Given the description of an element on the screen output the (x, y) to click on. 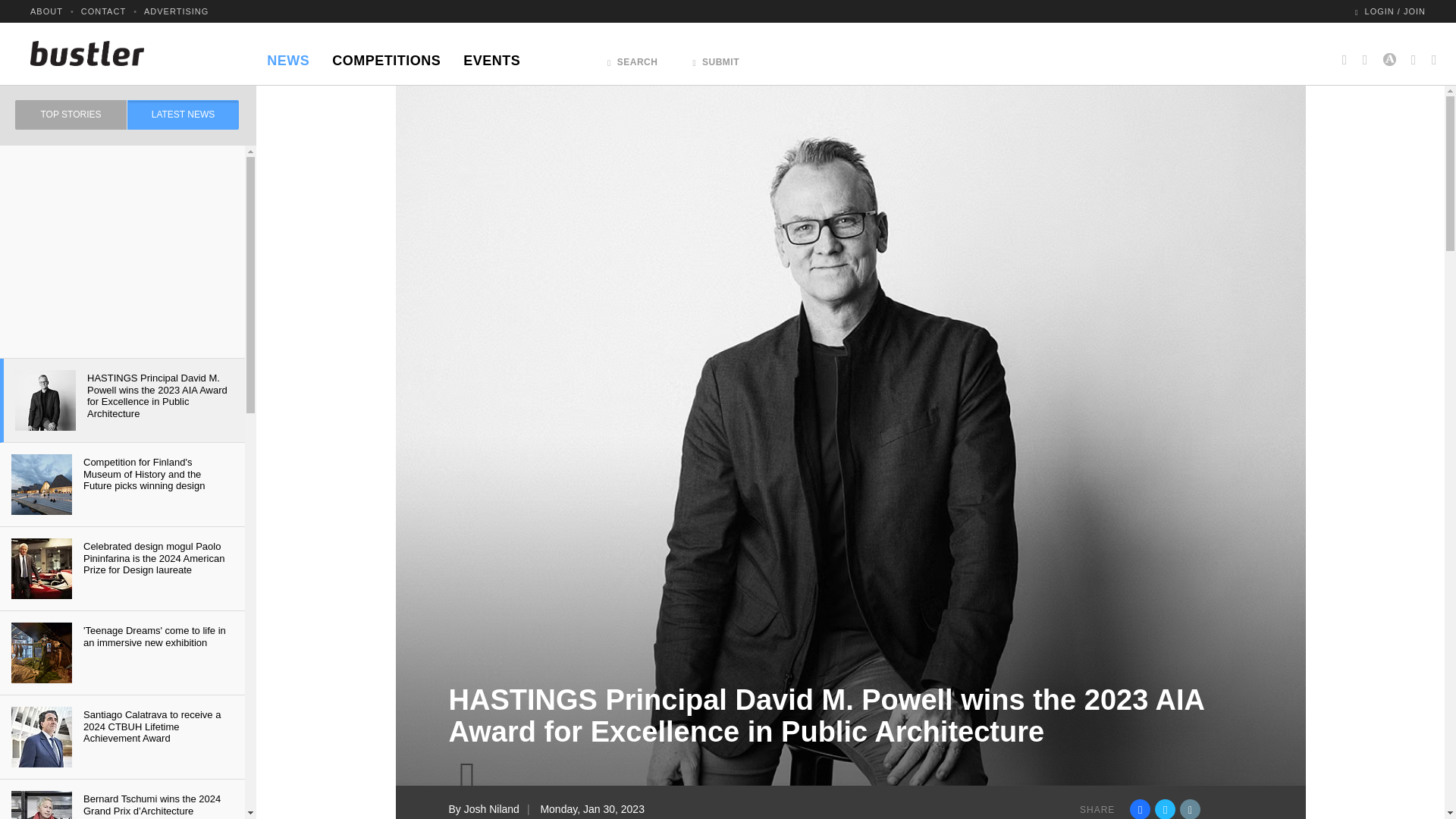
SUBMIT (715, 57)
EVENTS (491, 56)
SEARCH (632, 57)
CONTACT (103, 10)
Bustler is powered by Archinect (1389, 53)
NEWS (288, 56)
ABOUT (46, 10)
COMPETITIONS (385, 56)
ADVERTISING (176, 10)
